Given the description of an element on the screen output the (x, y) to click on. 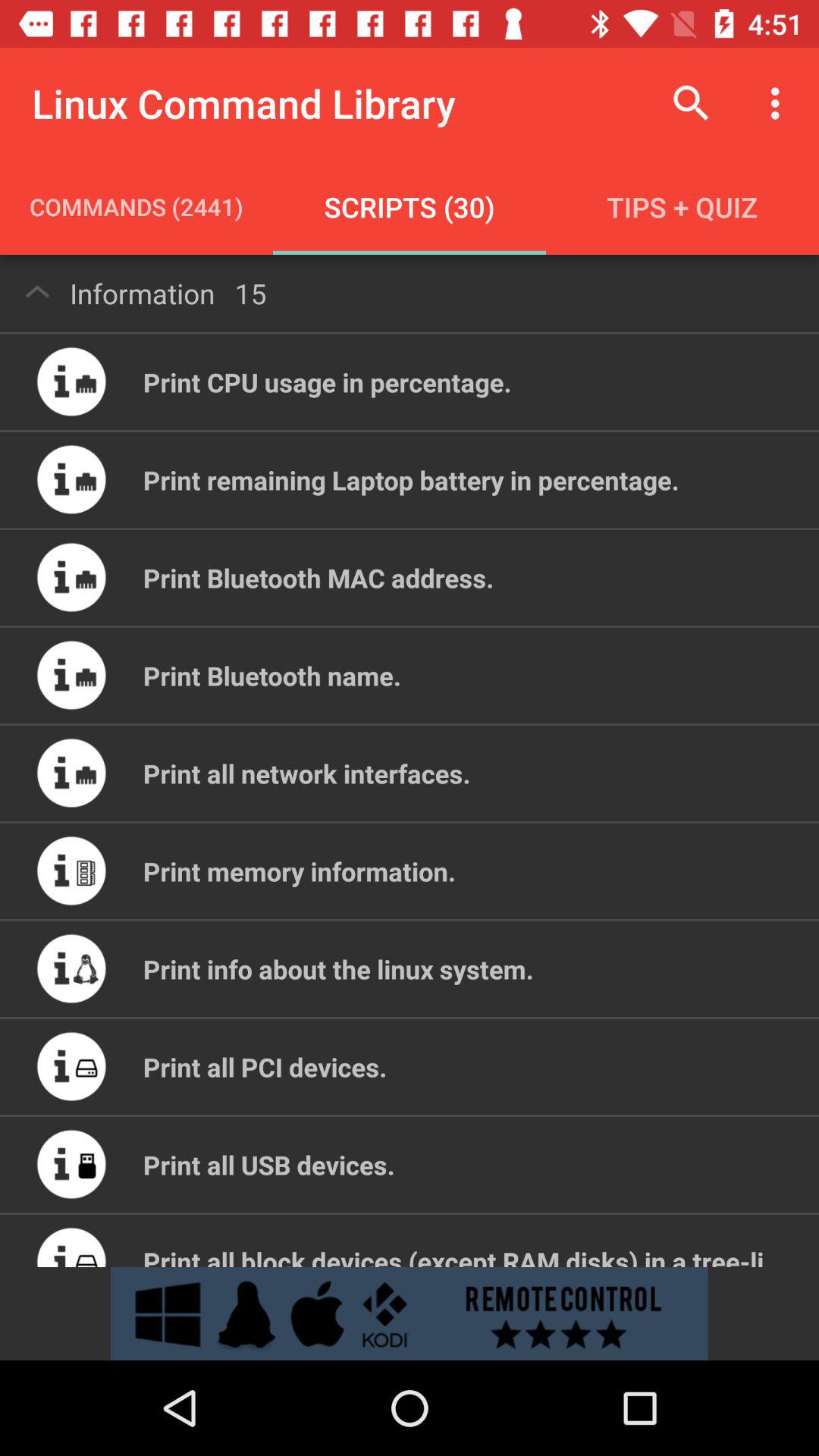
turn on the item above tips + quiz icon (779, 103)
